Given the description of an element on the screen output the (x, y) to click on. 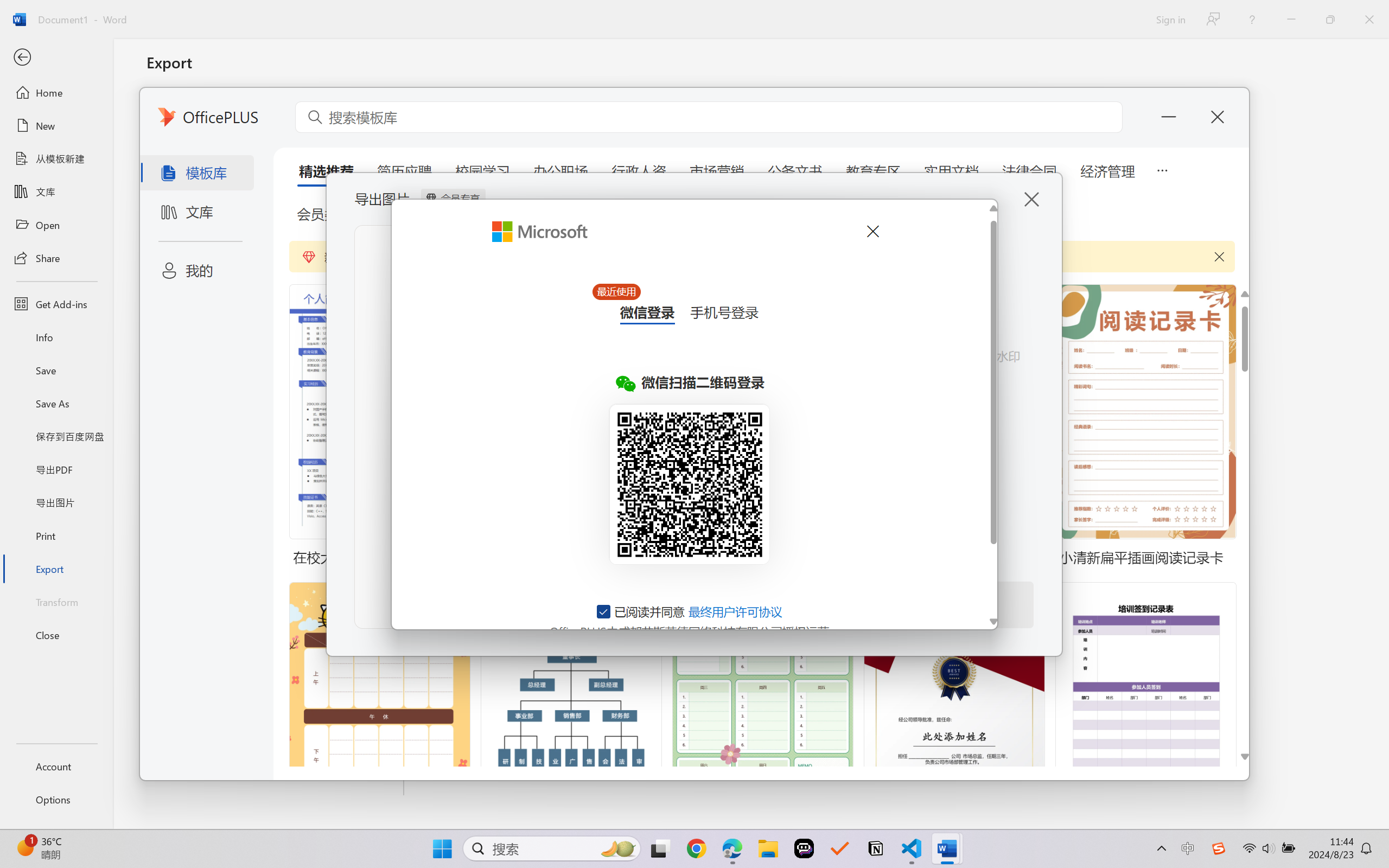
5 more tabs (1161, 169)
